Given the description of an element on the screen output the (x, y) to click on. 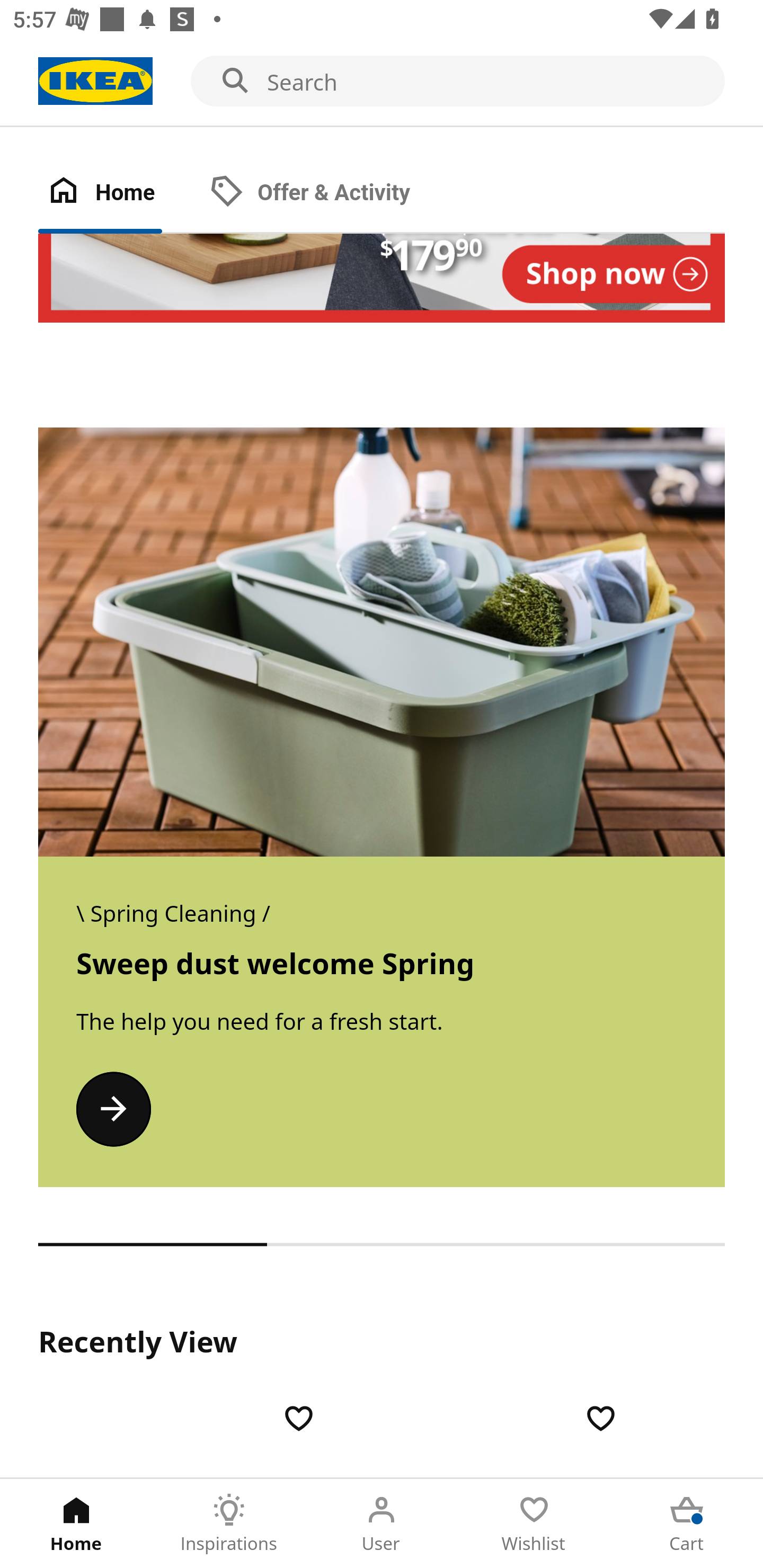
Search (381, 81)
Home
Tab 1 of 2 (118, 192)
Offer & Activity
Tab 2 of 2 (327, 192)
Home
Tab 1 of 5 (76, 1522)
Inspirations
Tab 2 of 5 (228, 1522)
User
Tab 3 of 5 (381, 1522)
Wishlist
Tab 4 of 5 (533, 1522)
Cart
Tab 5 of 5 (686, 1522)
